Given the description of an element on the screen output the (x, y) to click on. 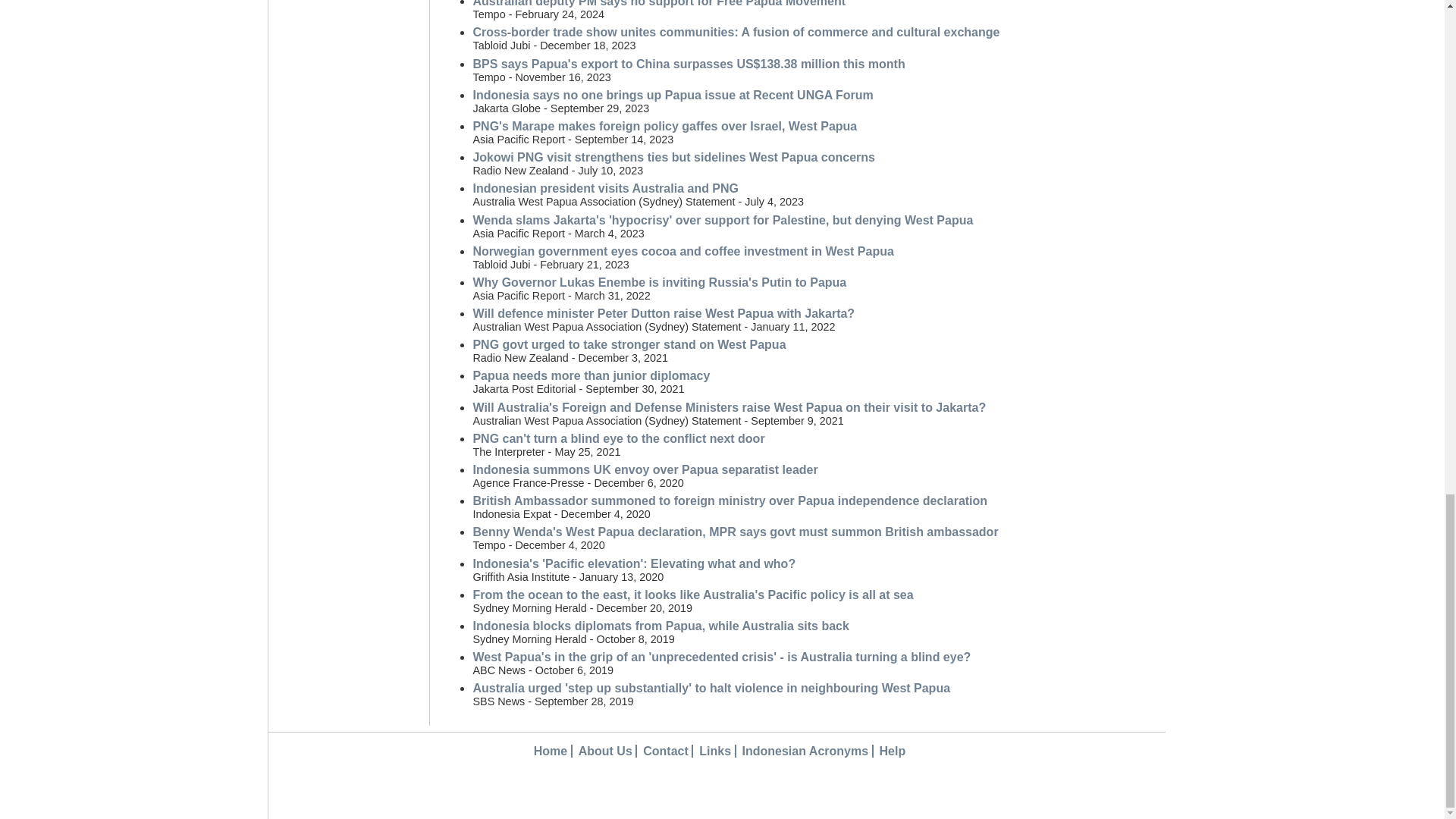
PNG govt urged to take stronger stand on West Papua (628, 344)
Indonesia's 'Pacific elevation': Elevating what and who? (632, 563)
Australian deputy PM says no support for Free Papua Movement (658, 3)
Indonesia summons UK envoy over Papua separatist leader (643, 469)
